Given the description of an element on the screen output the (x, y) to click on. 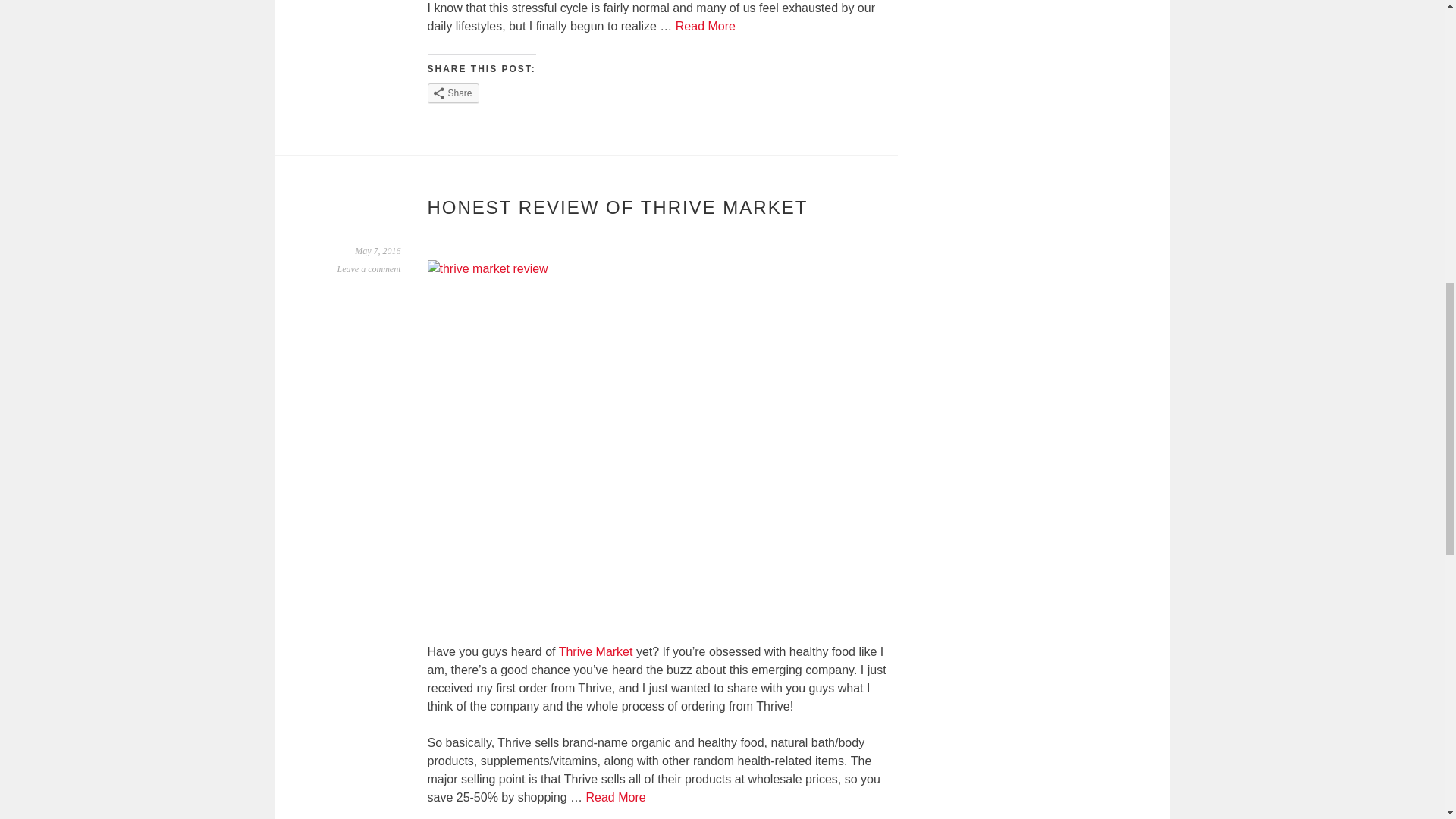
Read More (616, 797)
Thrive Market (596, 651)
Permalink to Honest Review of Thrive Market (377, 250)
Leave a comment (369, 268)
HONEST REVIEW OF THRIVE MARKET (618, 207)
Share (453, 93)
Read More (705, 25)
May 7, 2016 (377, 250)
